Given the description of an element on the screen output the (x, y) to click on. 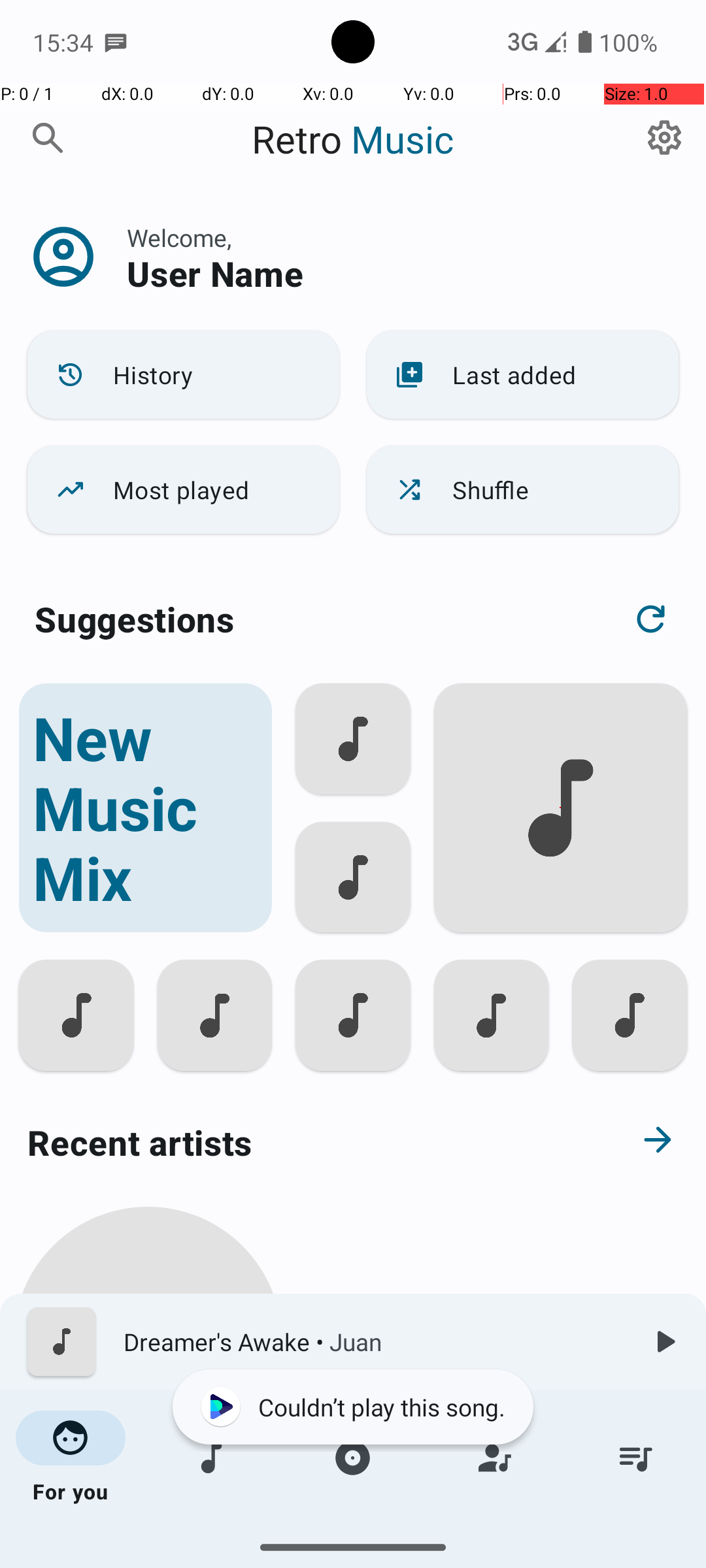
Dreamer's Awake • Juan Element type: android.widget.TextView (372, 1341)
Luca Element type: android.widget.TextView (147, 1503)
